Given the description of an element on the screen output the (x, y) to click on. 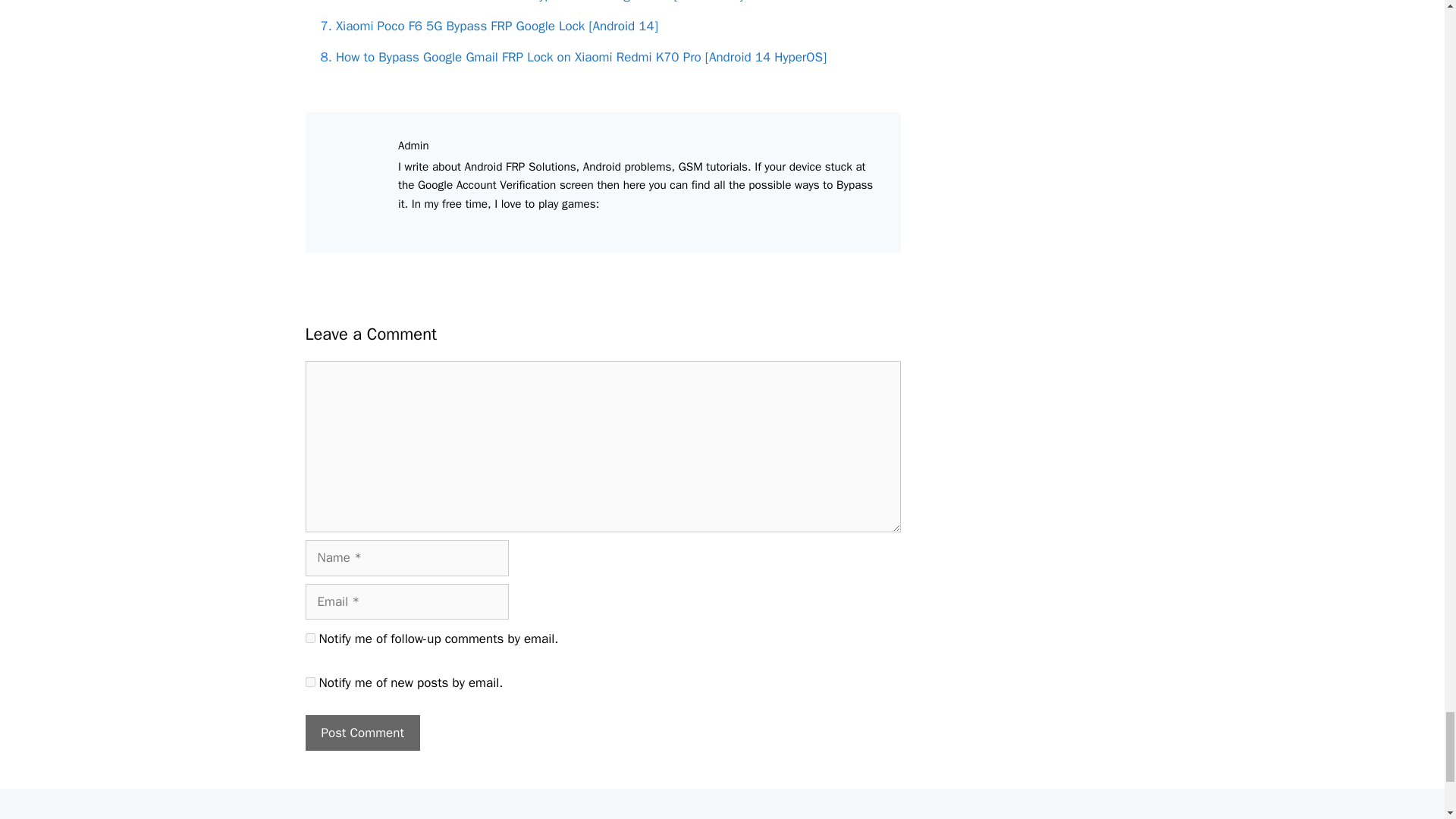
Post Comment (361, 732)
subscribe (309, 637)
subscribe (309, 682)
Post Comment (361, 732)
